Given the description of an element on the screen output the (x, y) to click on. 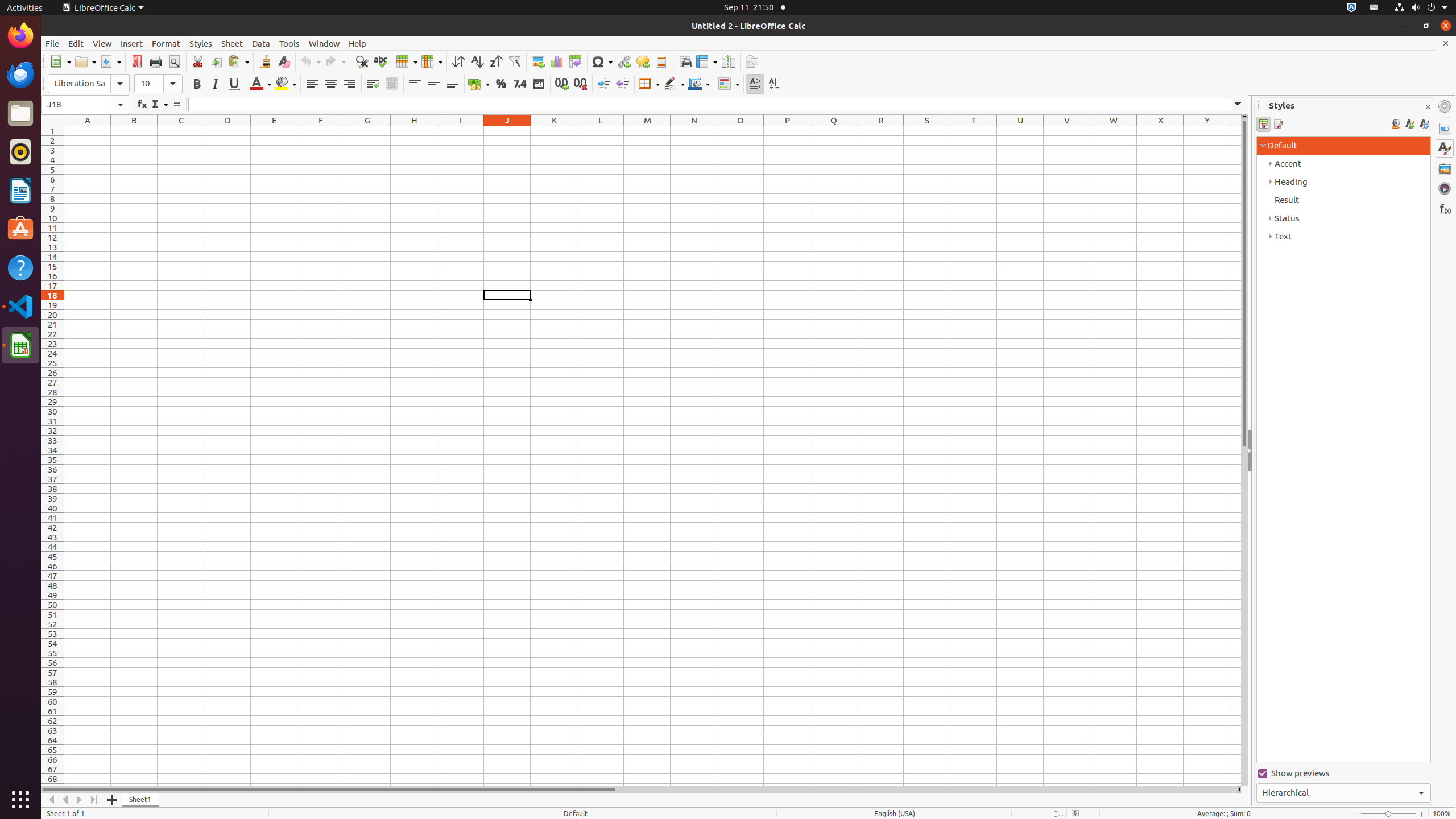
Print Preview Element type: toggle-button (173, 61)
Chart Element type: push-button (556, 61)
Font Size Element type: panel (158, 83)
Style List Element type: tree (1343, 448)
Column Element type: push-button (431, 61)
